Given the description of an element on the screen output the (x, y) to click on. 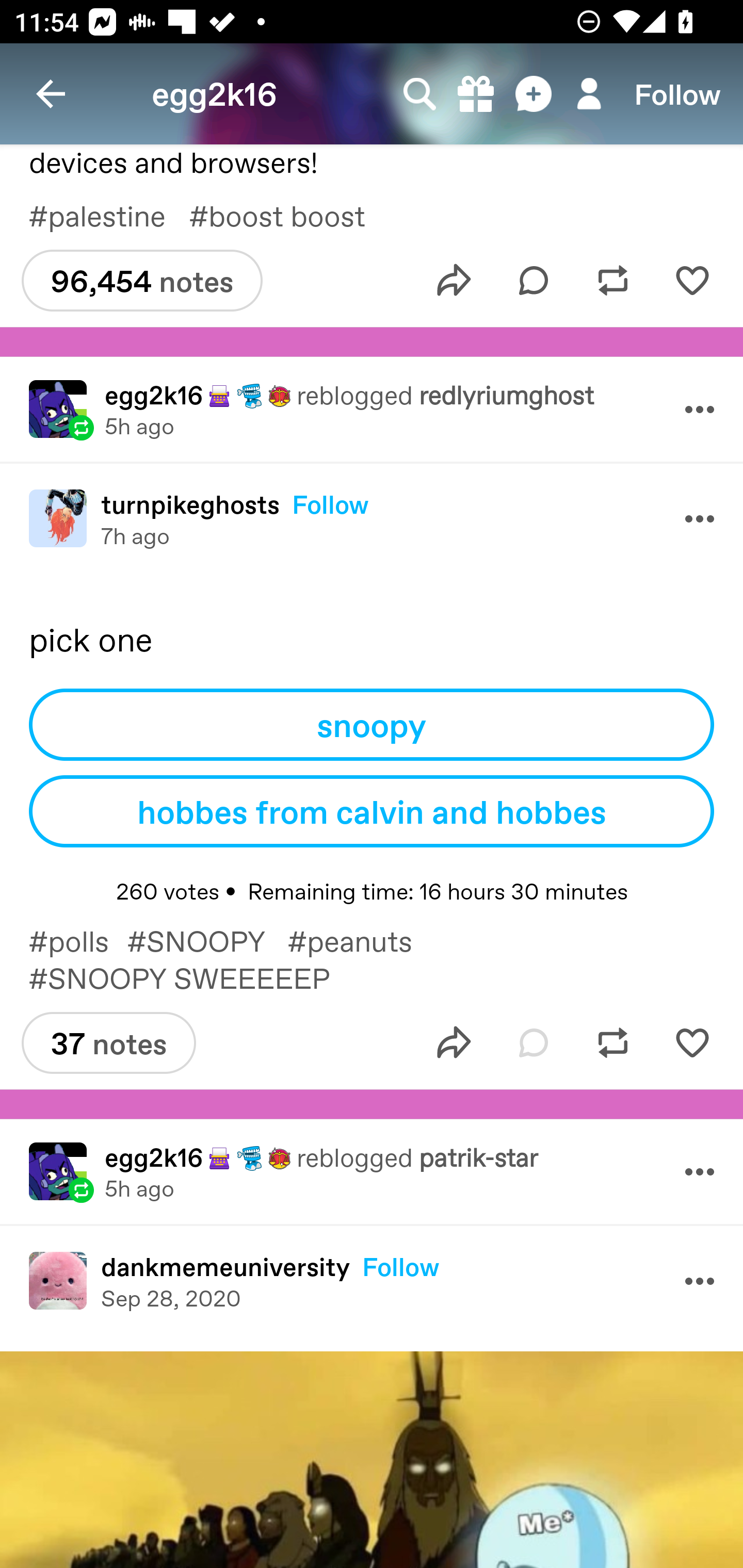
Navigate up (50, 93)
Messages (535, 93)
Follow (677, 93)
#palestine (108, 214)
#boost boost (291, 214)
Share post to message (454, 280)
Reply (533, 280)
Reblog (612, 280)
Like (691, 280)
96,454 notes (141, 280)
Poll option: snoopy snoopy (371, 725)
#polls (77, 940)
#SNOOPY (207, 940)
#peanuts (360, 940)
#SNOOPY SWEEEEEP (193, 977)
Share post to message (454, 1042)
Reblog (612, 1042)
Like (691, 1042)
37 notes (108, 1042)
